Given the description of an element on the screen output the (x, y) to click on. 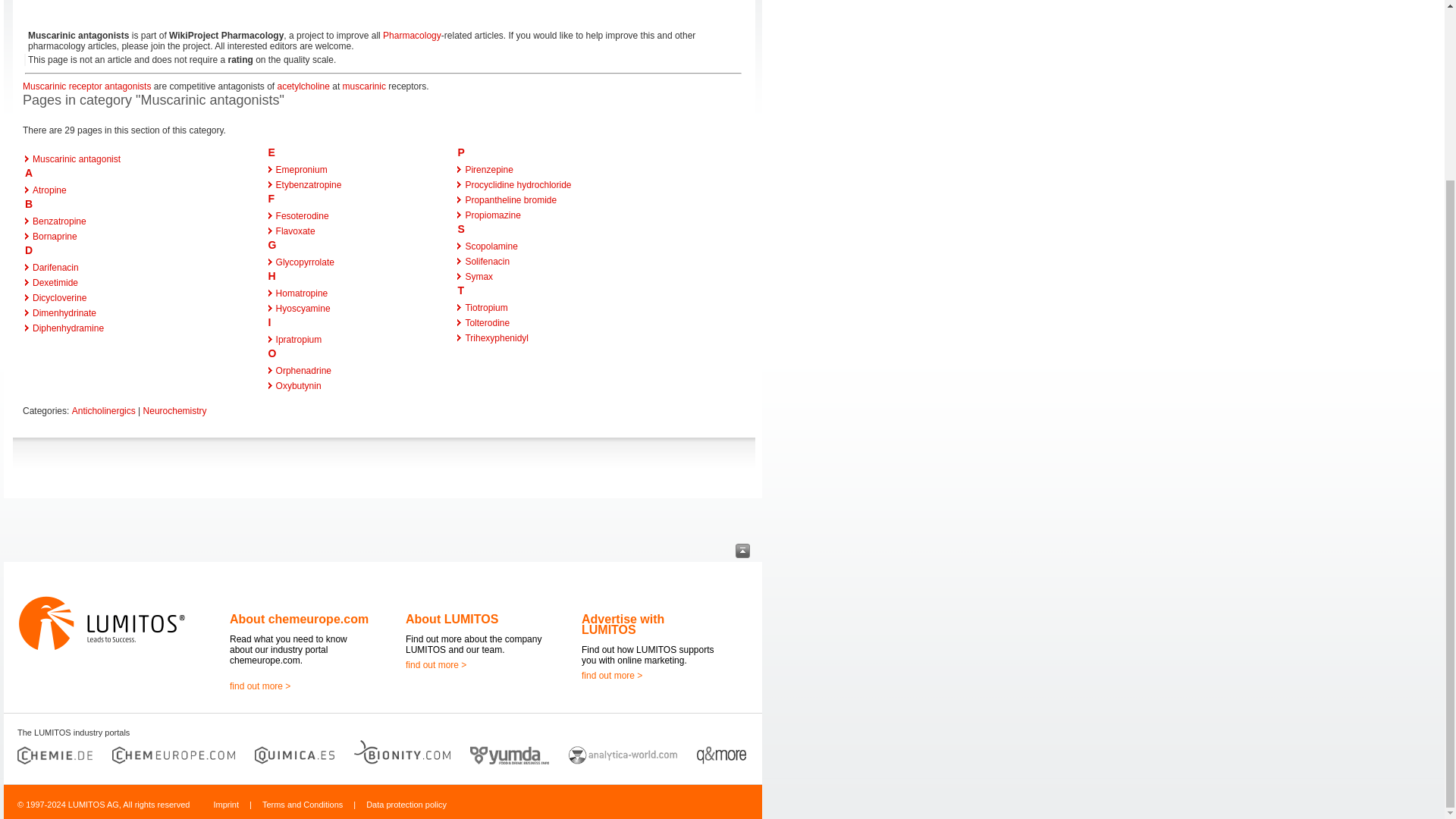
Emepronium (301, 169)
Fesoterodine (302, 215)
Pharmacology (411, 35)
Muscarinic receptor antagonist (87, 86)
Flavoxate (295, 231)
Muscarinic antagonist (76, 158)
Atropine (49, 190)
Acetylcholine (304, 86)
Glycopyrrolate (305, 262)
Muscarinic acetylcholine receptor (363, 86)
Muscarinic receptor antagonists (87, 86)
Darifenacin (55, 267)
Diphenhydramine (67, 327)
muscarinic (363, 86)
Dicycloverine (58, 297)
